Given the description of an element on the screen output the (x, y) to click on. 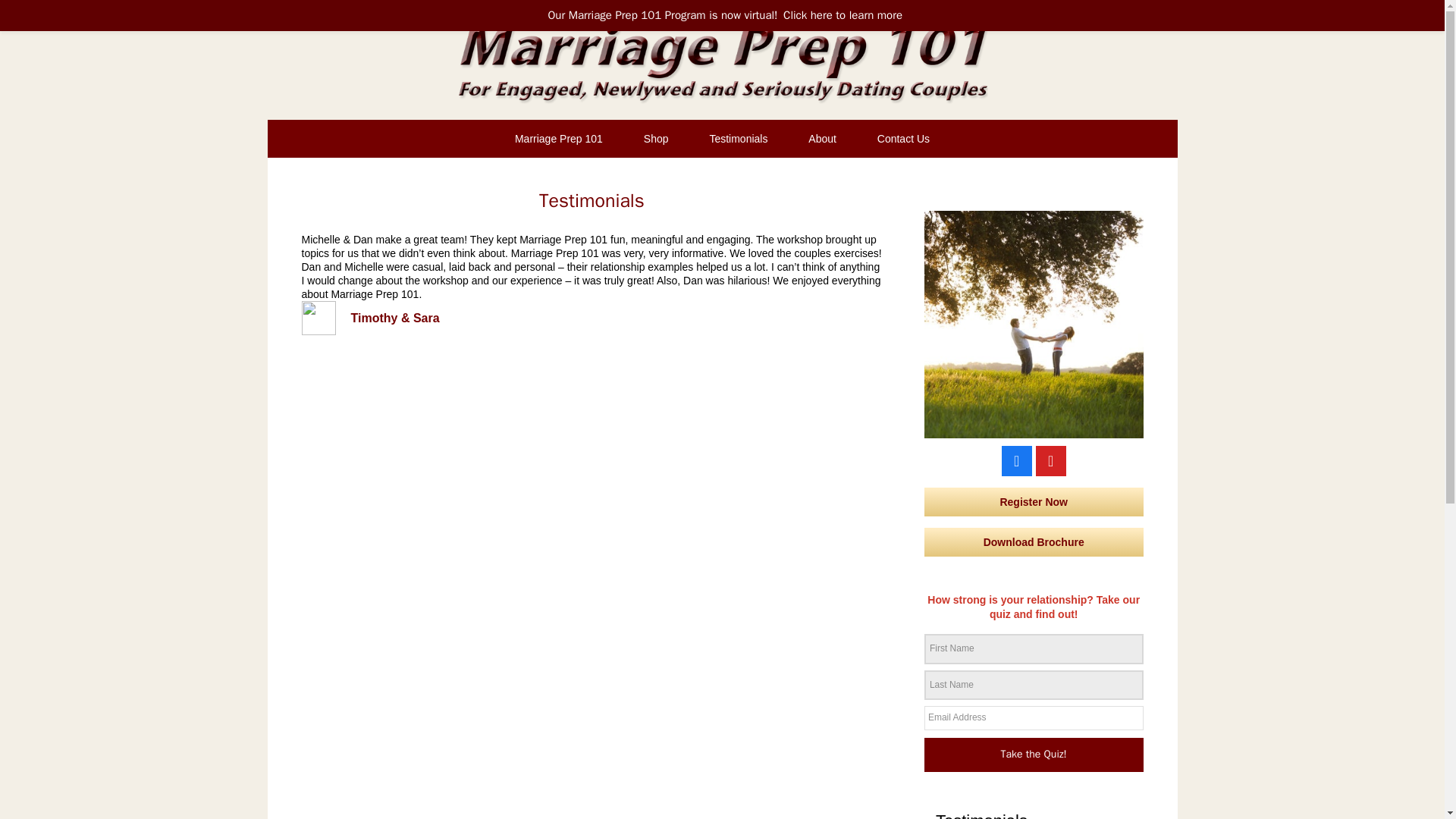
Download Brochure (1034, 541)
About (822, 138)
Click here to learn more (842, 15)
Contact Us (903, 138)
Take the Quiz! (1033, 754)
Yelp (1050, 460)
Yelp (1050, 460)
Marriage Prep 101 (559, 138)
Facebook (1016, 460)
Take the Quiz! (1033, 754)
